Given the description of an element on the screen output the (x, y) to click on. 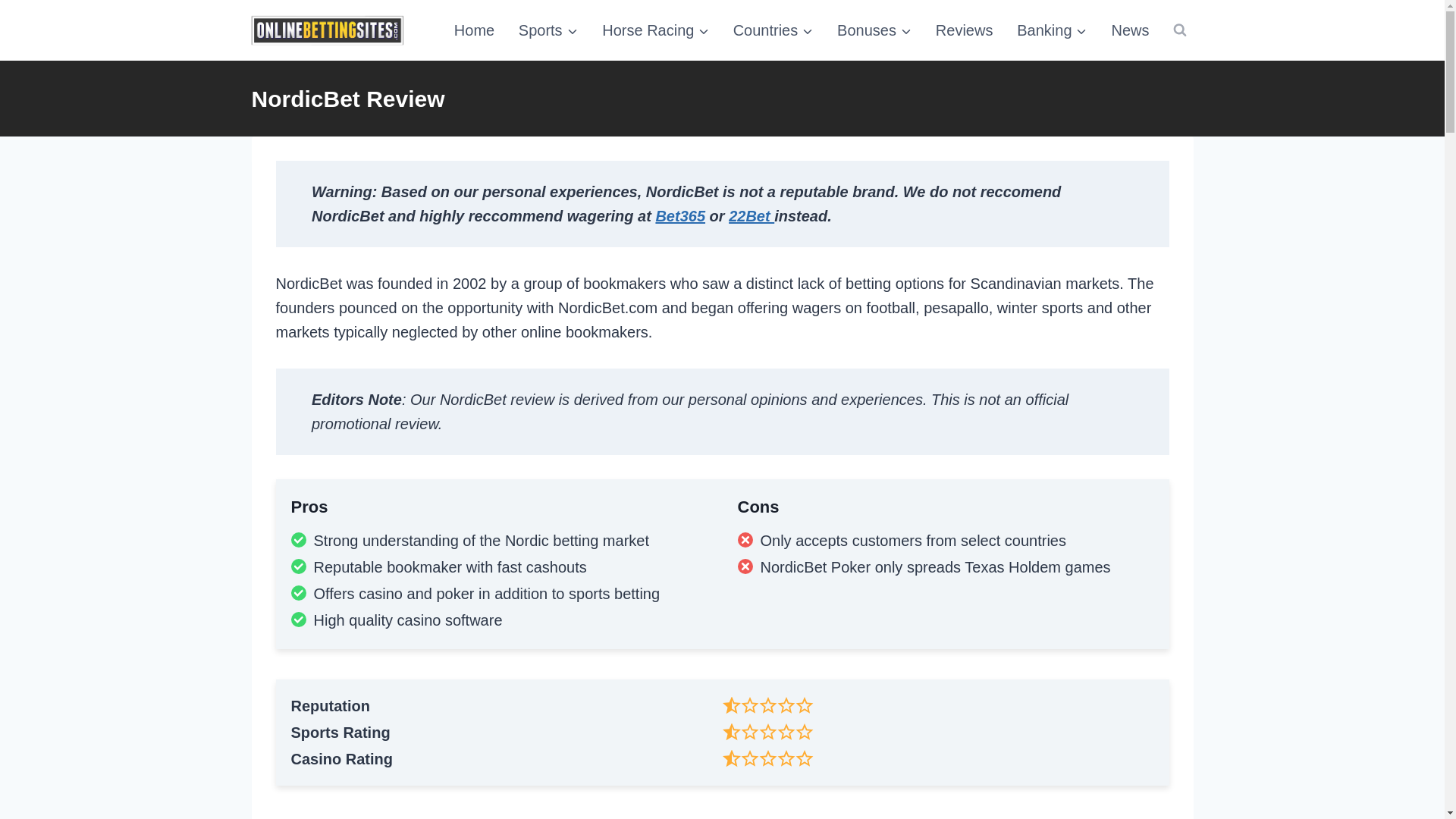
Sports (547, 30)
Countries (772, 30)
Horse Racing (654, 30)
Bet365 (679, 216)
News (1129, 30)
Reviews (964, 30)
Home (474, 30)
Bonuses (874, 30)
Banking (1051, 30)
